Given the description of an element on the screen output the (x, y) to click on. 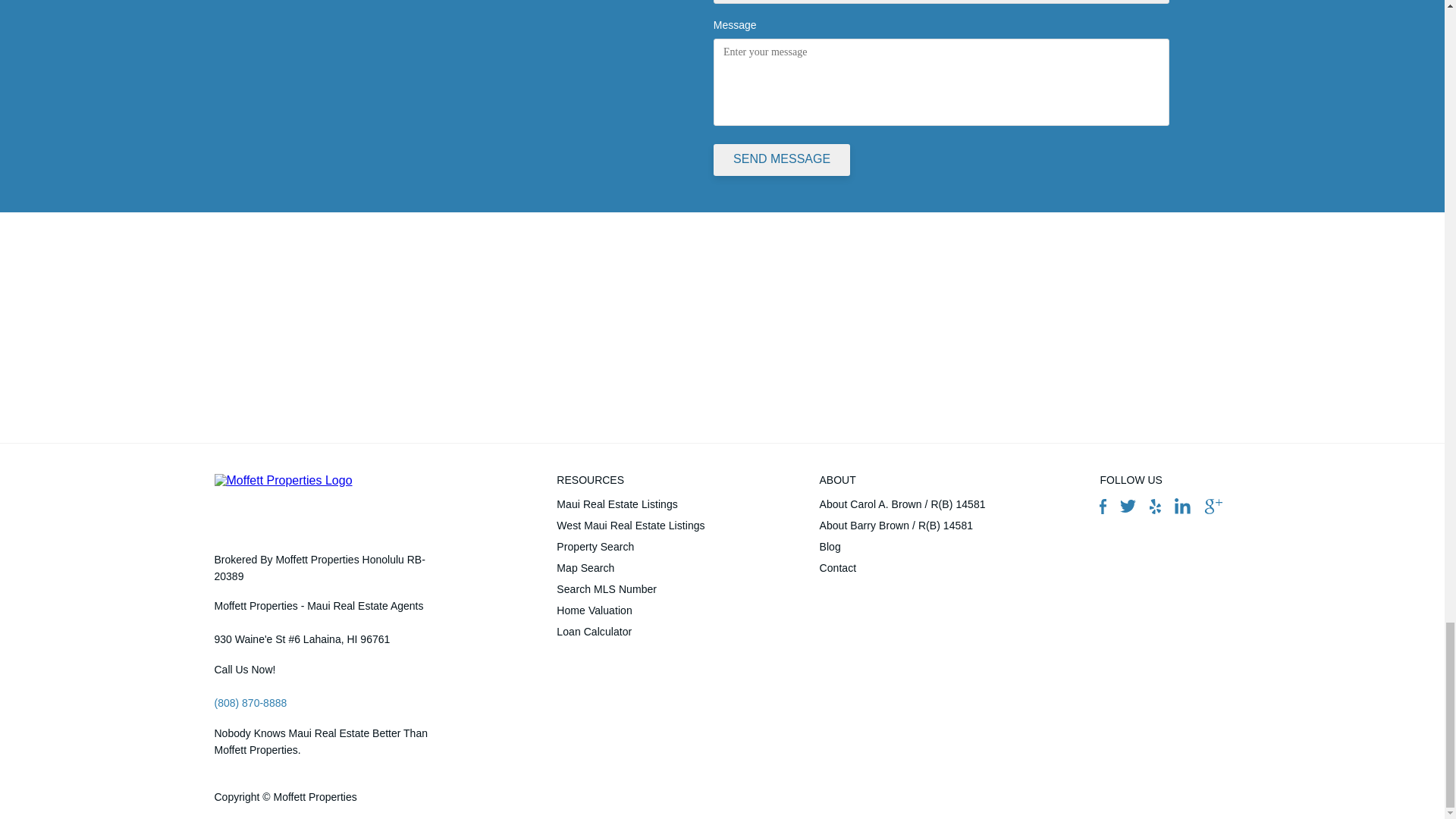
Search MLS Number (630, 588)
Map Search (630, 567)
send message (781, 160)
Loan Calculator (630, 631)
Property Search (630, 546)
Maui Real Estate Listings (630, 504)
send message (781, 160)
West Maui Real Estate Listings (630, 525)
Home Valuation (630, 609)
